Given the description of an element on the screen output the (x, y) to click on. 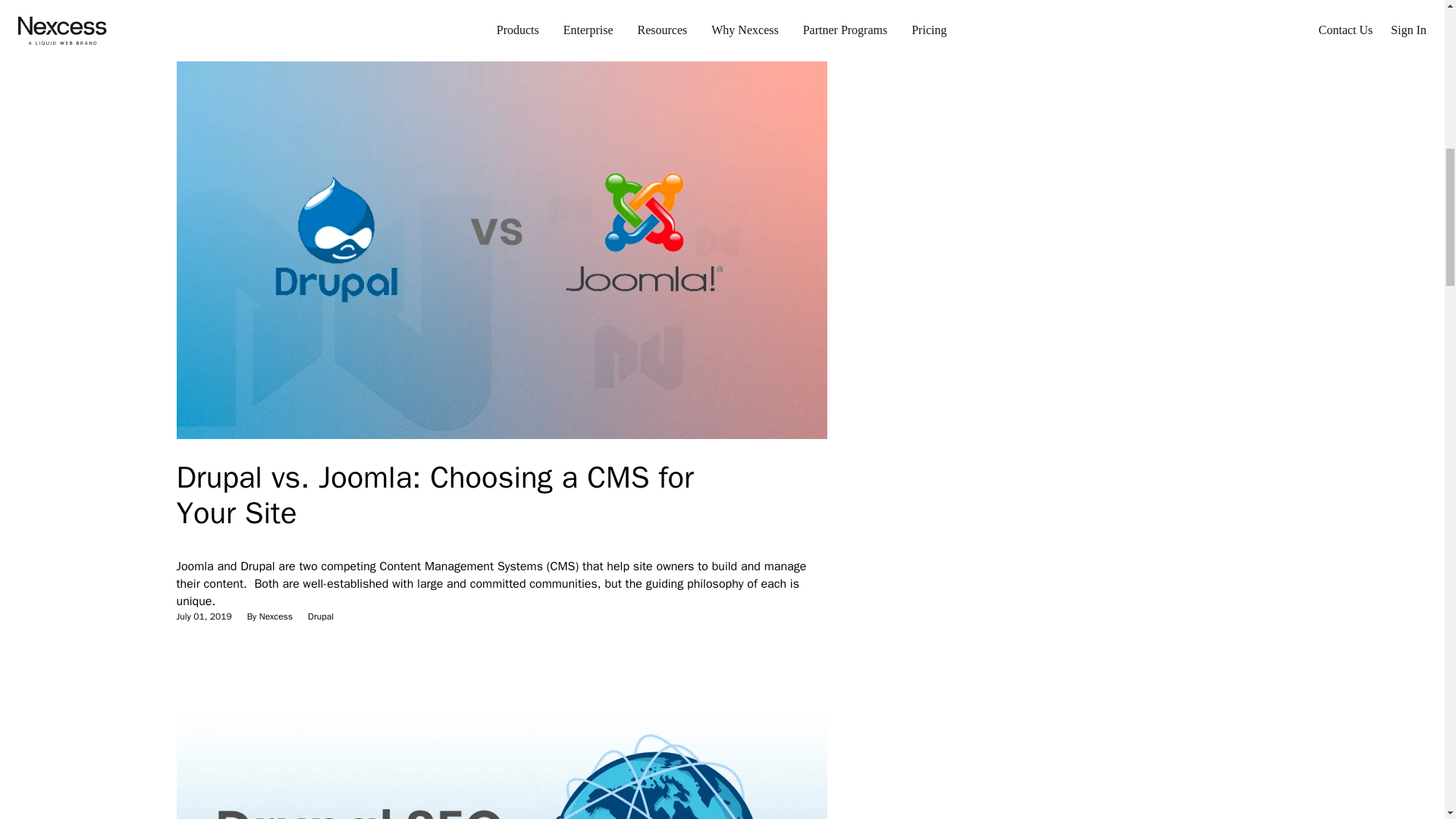
Nexcess (275, 616)
Drupal (320, 2)
Drupal vs. Joomla: Choosing a CMS for Your Site (434, 494)
Drupal (320, 616)
Nexcess (275, 2)
